Given the description of an element on the screen output the (x, y) to click on. 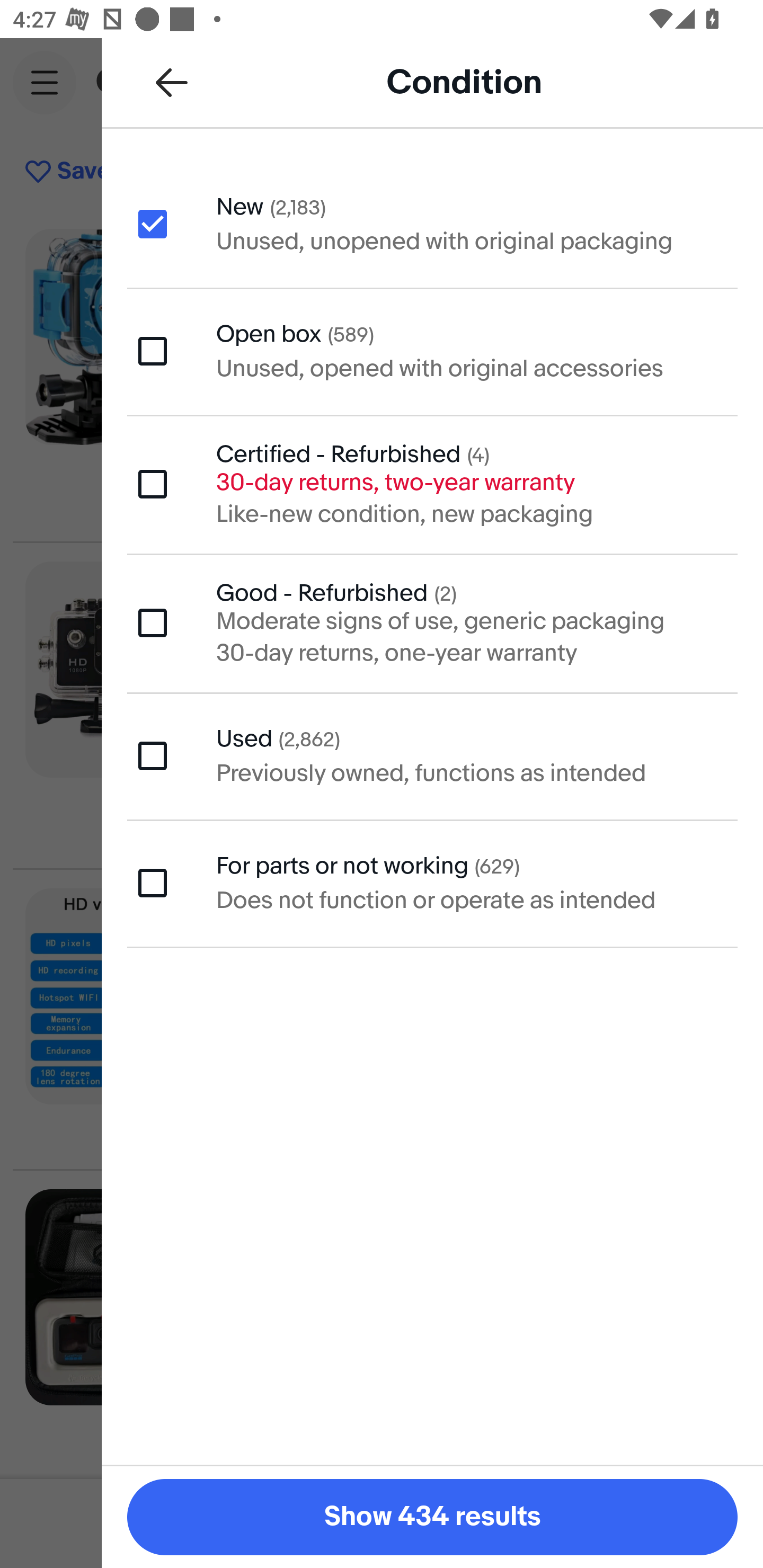
Back to all refinements (171, 81)
Show 434 results (432, 1516)
